Given the description of an element on the screen output the (x, y) to click on. 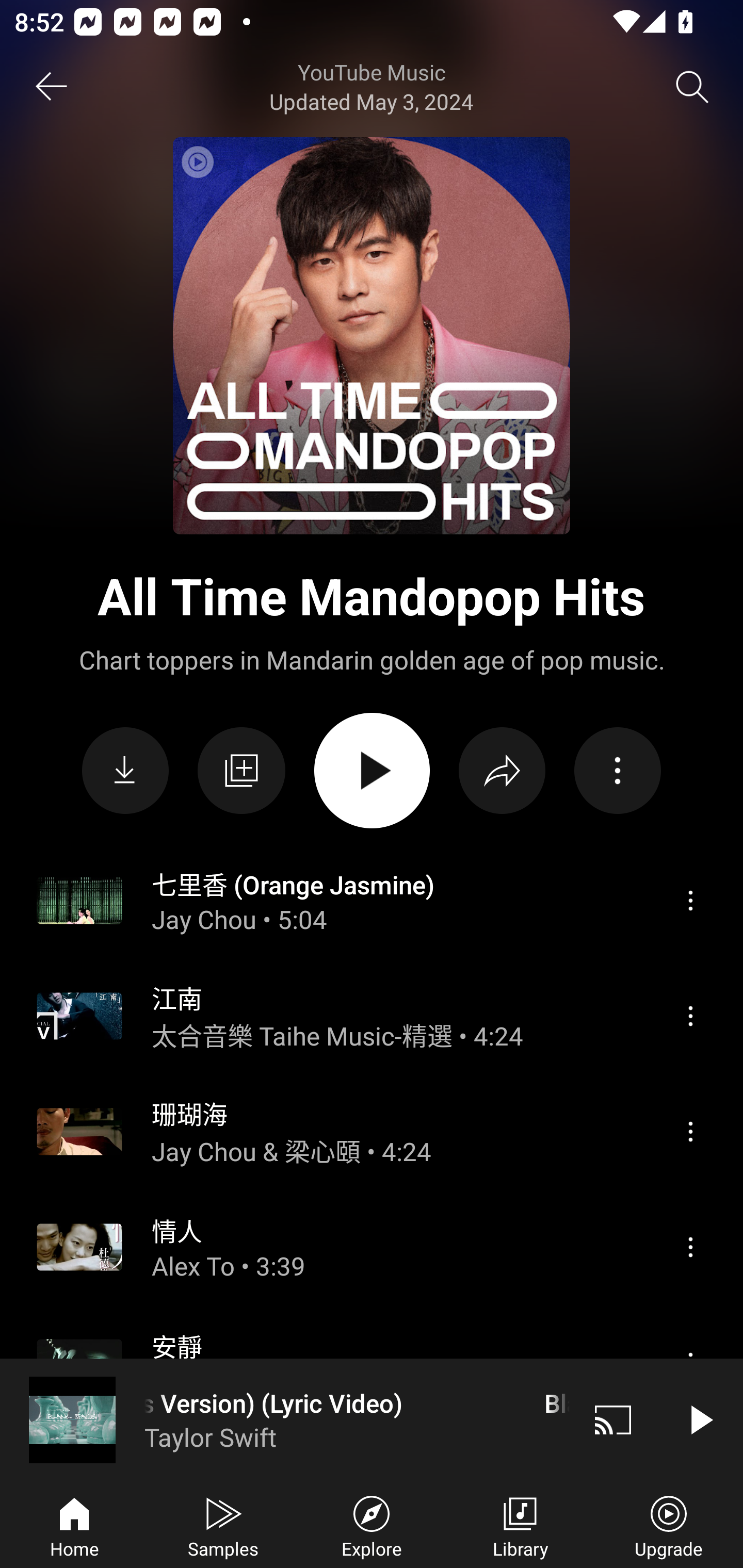
Back (50, 86)
Search (692, 86)
PLAY ALL (371, 770)
Download (125, 770)
Share (501, 770)
Action menu (617, 770)
Save to library (241, 770)
Menu (690, 899)
Menu (690, 1016)
Menu (690, 1132)
Menu (690, 1246)
Cast. Disconnected (612, 1419)
Play video (699, 1419)
Home (74, 1524)
Samples (222, 1524)
Explore (371, 1524)
Library (519, 1524)
Upgrade (668, 1524)
